Given the description of an element on the screen output the (x, y) to click on. 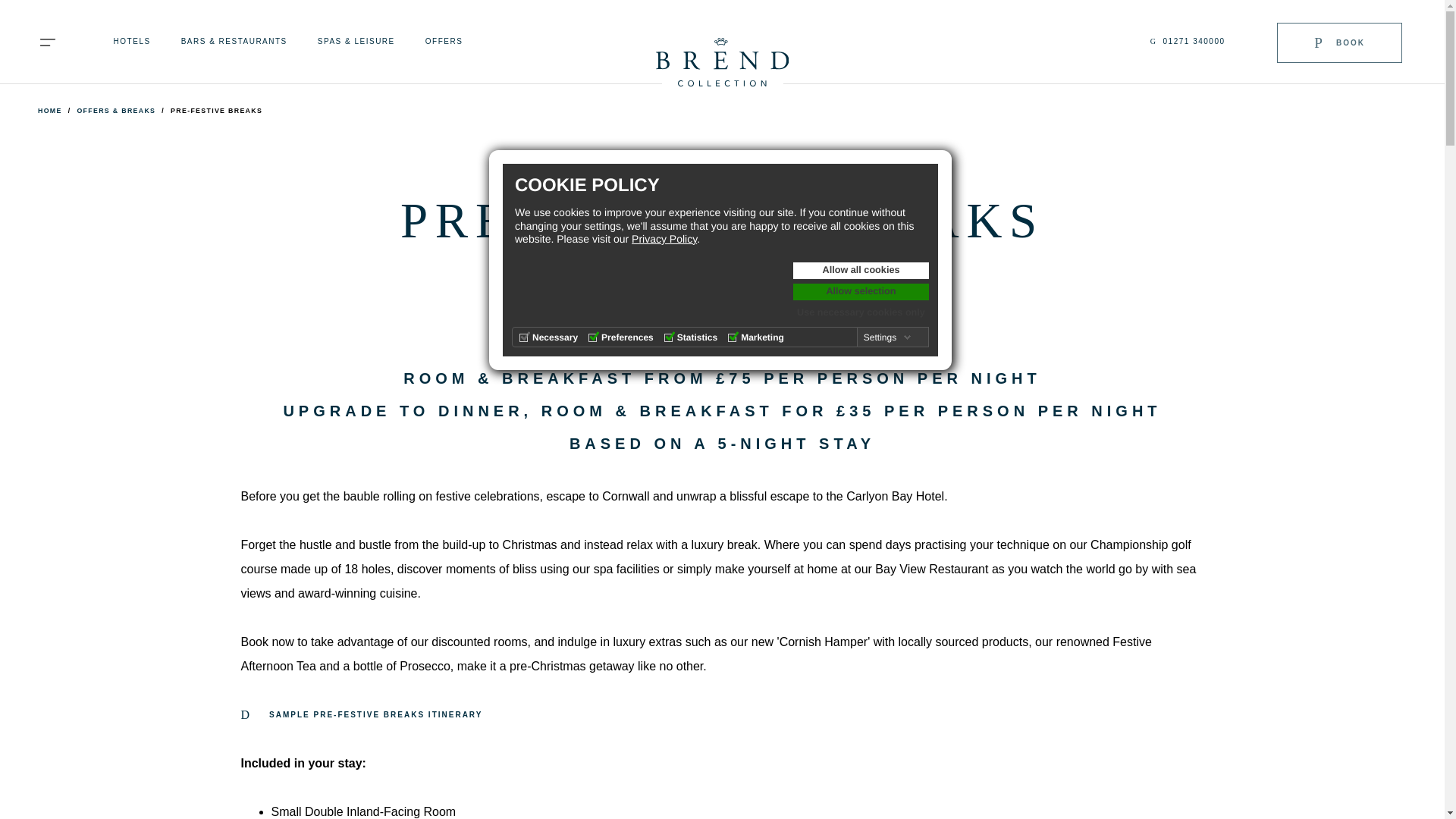
Settings (887, 337)
Allow selection (860, 291)
Use necessary cookies only (860, 312)
Privacy Policy (664, 238)
Allow all cookies (860, 270)
